Given the description of an element on the screen output the (x, y) to click on. 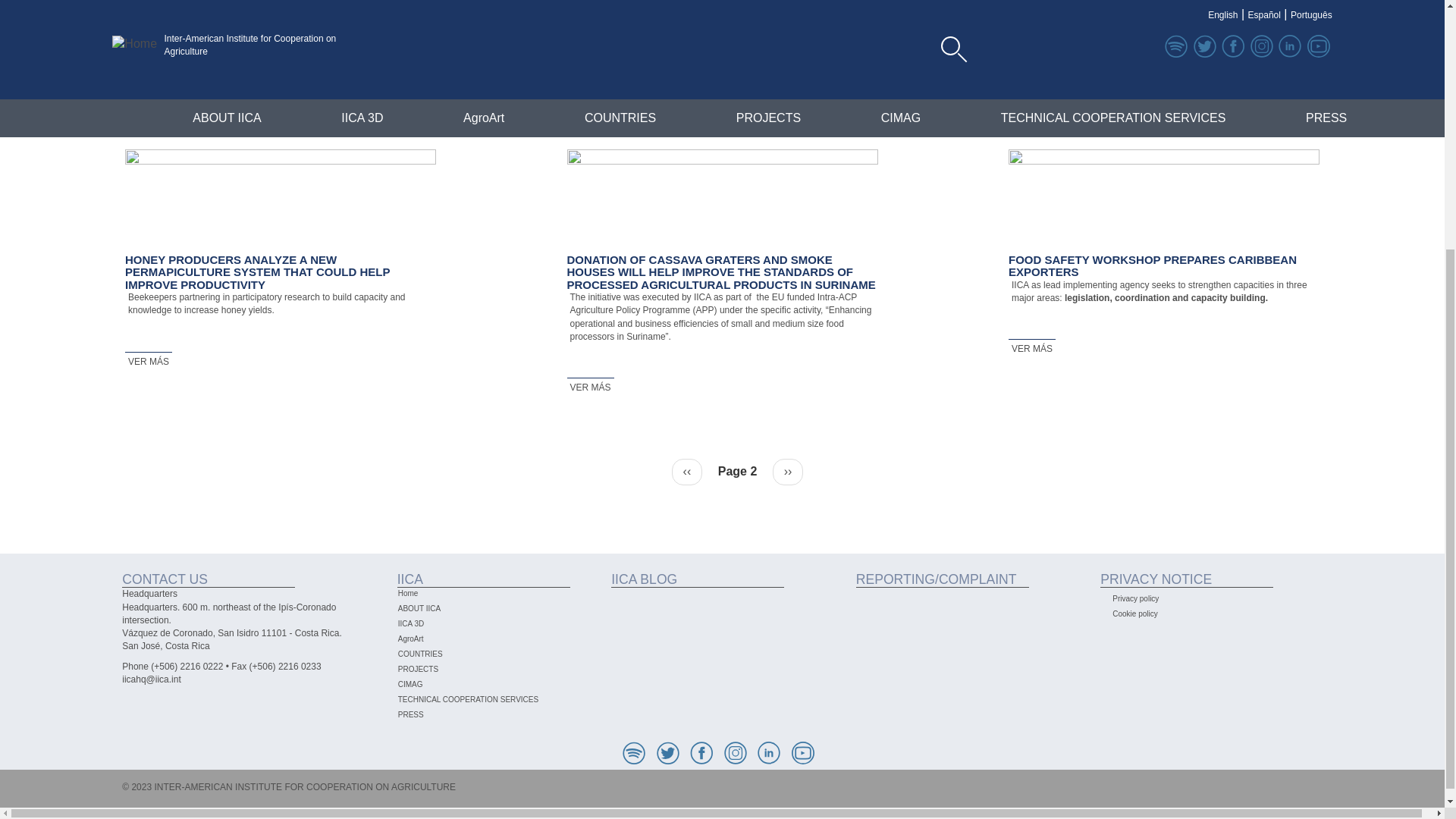
ICONO2 (634, 753)
ICONO2 (802, 753)
ICONO2 (768, 753)
ICONO2 (701, 753)
Go to previous page (687, 471)
ICONO2 (734, 753)
ICONO2 (667, 753)
Go to next page (788, 471)
